Given the description of an element on the screen output the (x, y) to click on. 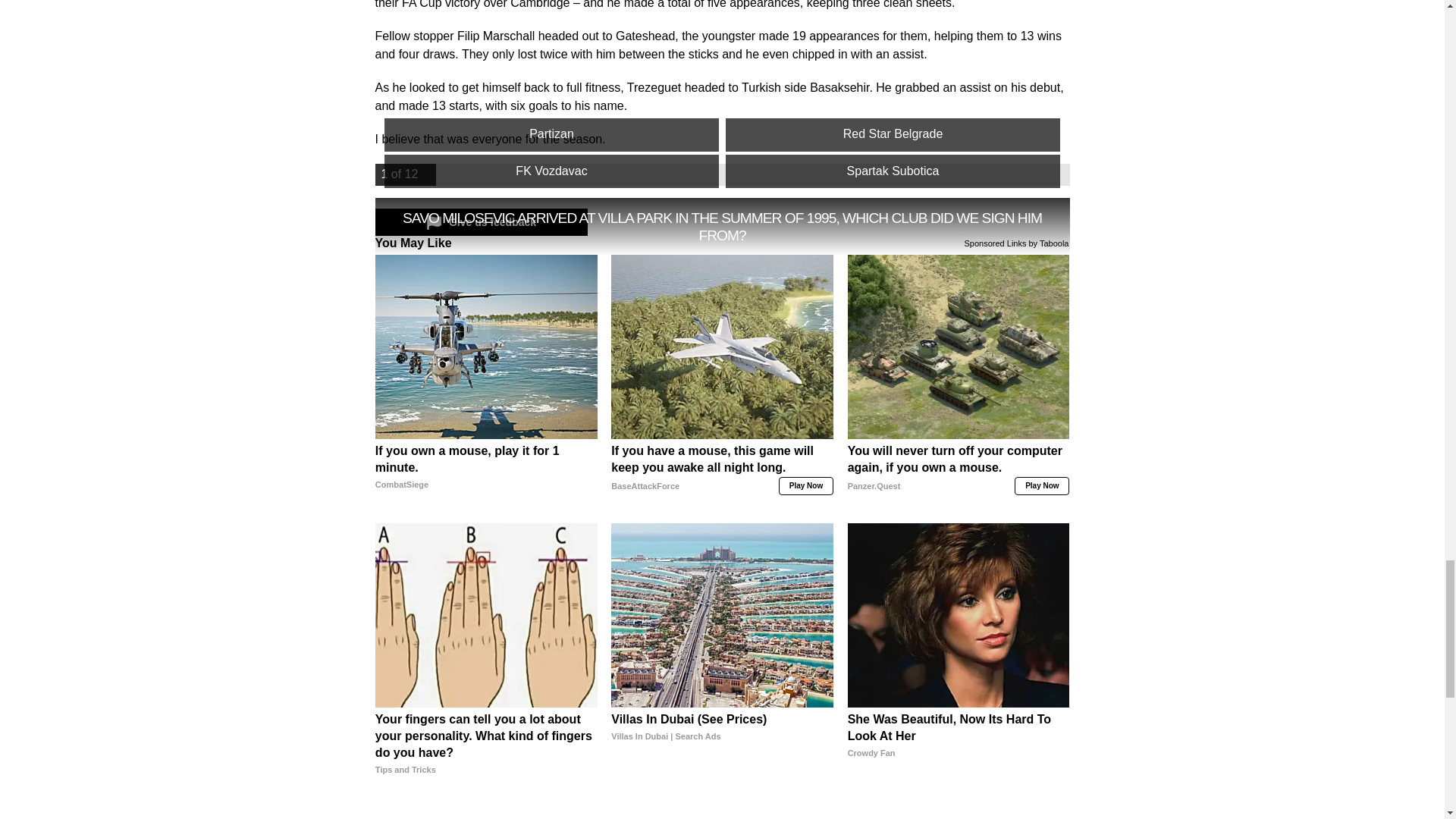
Partizan (551, 134)
Spartak Subotica (892, 171)
Give us feedback (480, 221)
Sponsored Links (994, 241)
Red Star Belgrade (892, 134)
FK Vozdavac (551, 171)
If you own a mouse, play it for 1 minute. (485, 346)
If you own a mouse, play it for 1 minute. (485, 476)
by Taboola (1047, 241)
FK Vozdavac (551, 171)
Red Star Belgrade (892, 134)
Partizan (551, 134)
